Given the description of an element on the screen output the (x, y) to click on. 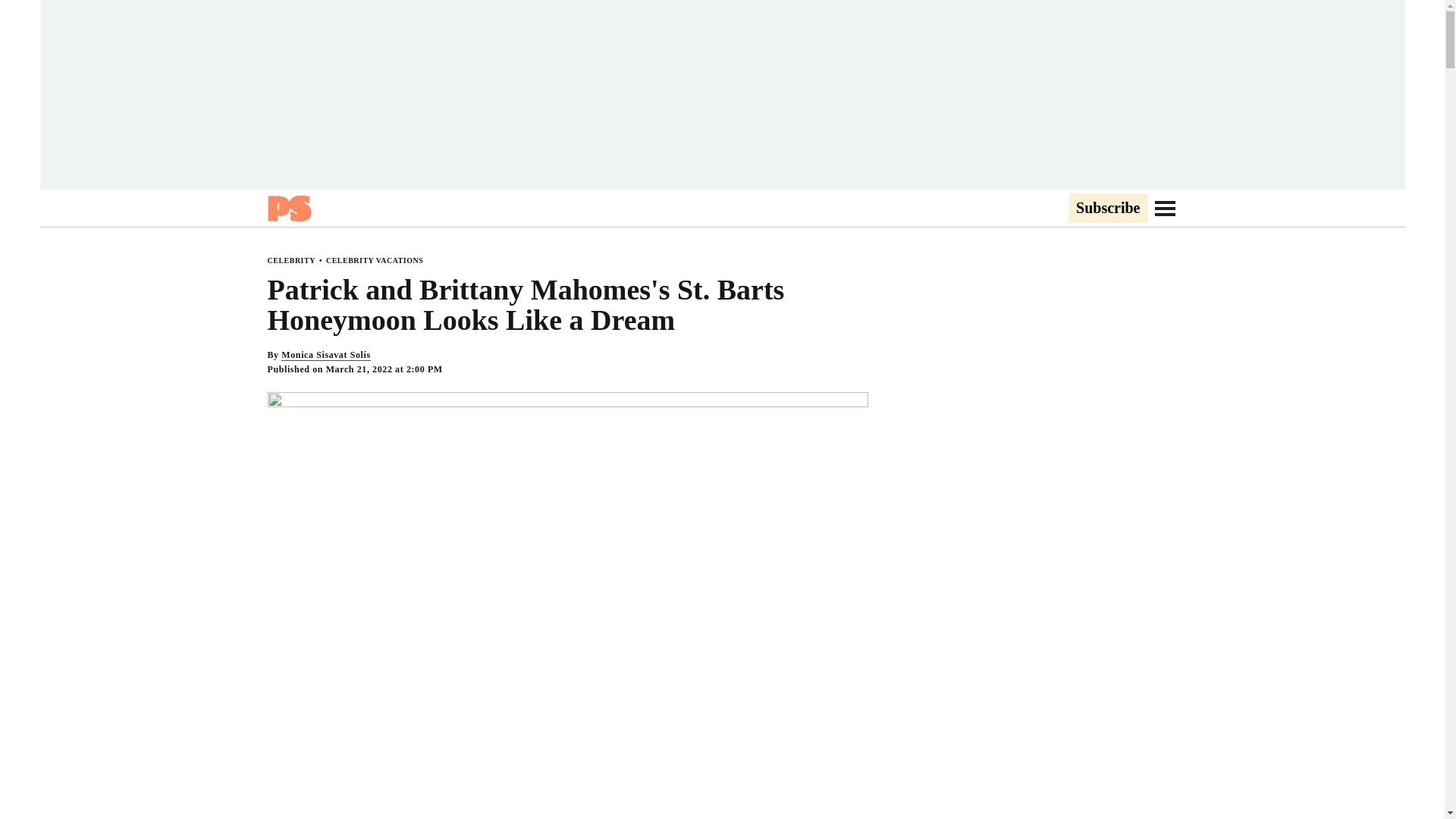
Popsugar (288, 208)
CELEBRITY (290, 260)
Subscribe (1107, 208)
CELEBRITY VACATIONS (374, 260)
Go to Navigation (1164, 207)
Go to Navigation (1164, 207)
